Given the description of an element on the screen output the (x, y) to click on. 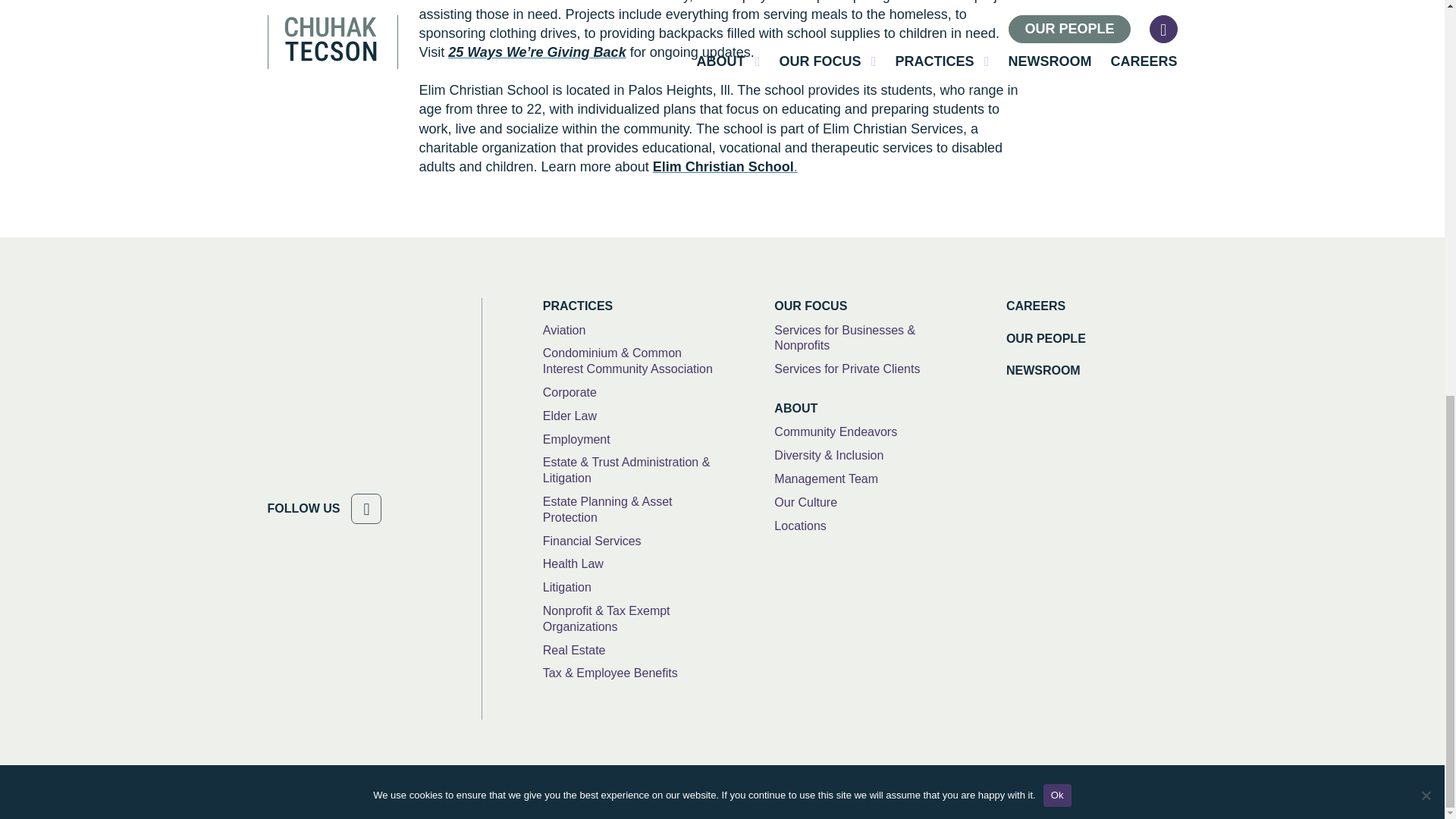
Corporate (569, 392)
Elim Christian School. (724, 166)
Aviation (564, 330)
PRACTICES (628, 306)
FOLLOW US ON LINKEDIN (365, 508)
No (1425, 29)
